Given the description of an element on the screen output the (x, y) to click on. 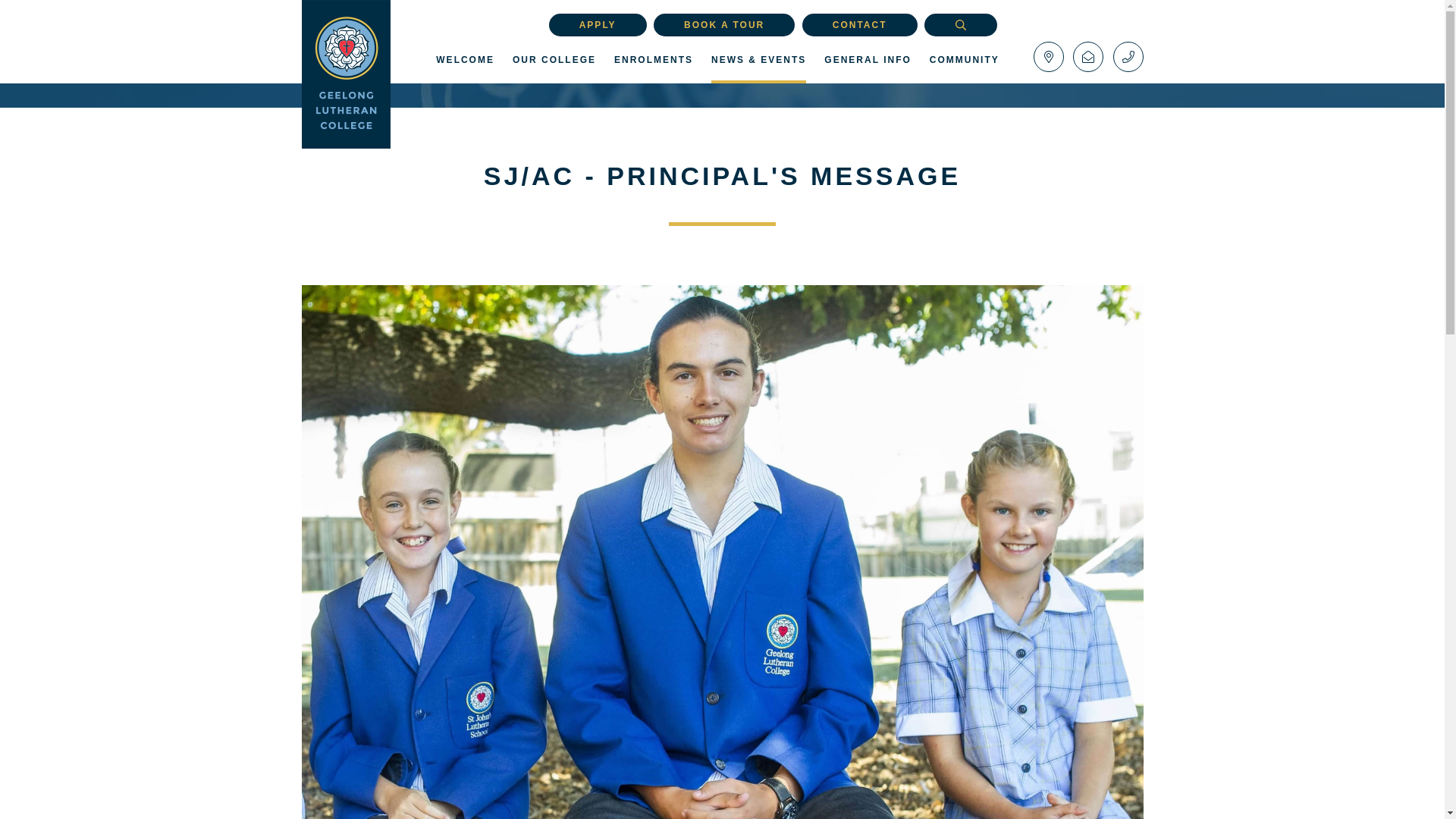
APPLY (597, 24)
ENROLMENTS (653, 66)
CONTACT (859, 24)
WELCOME (465, 66)
OUR COLLEGE (553, 66)
BOOK A TOUR (723, 24)
